Given the description of an element on the screen output the (x, y) to click on. 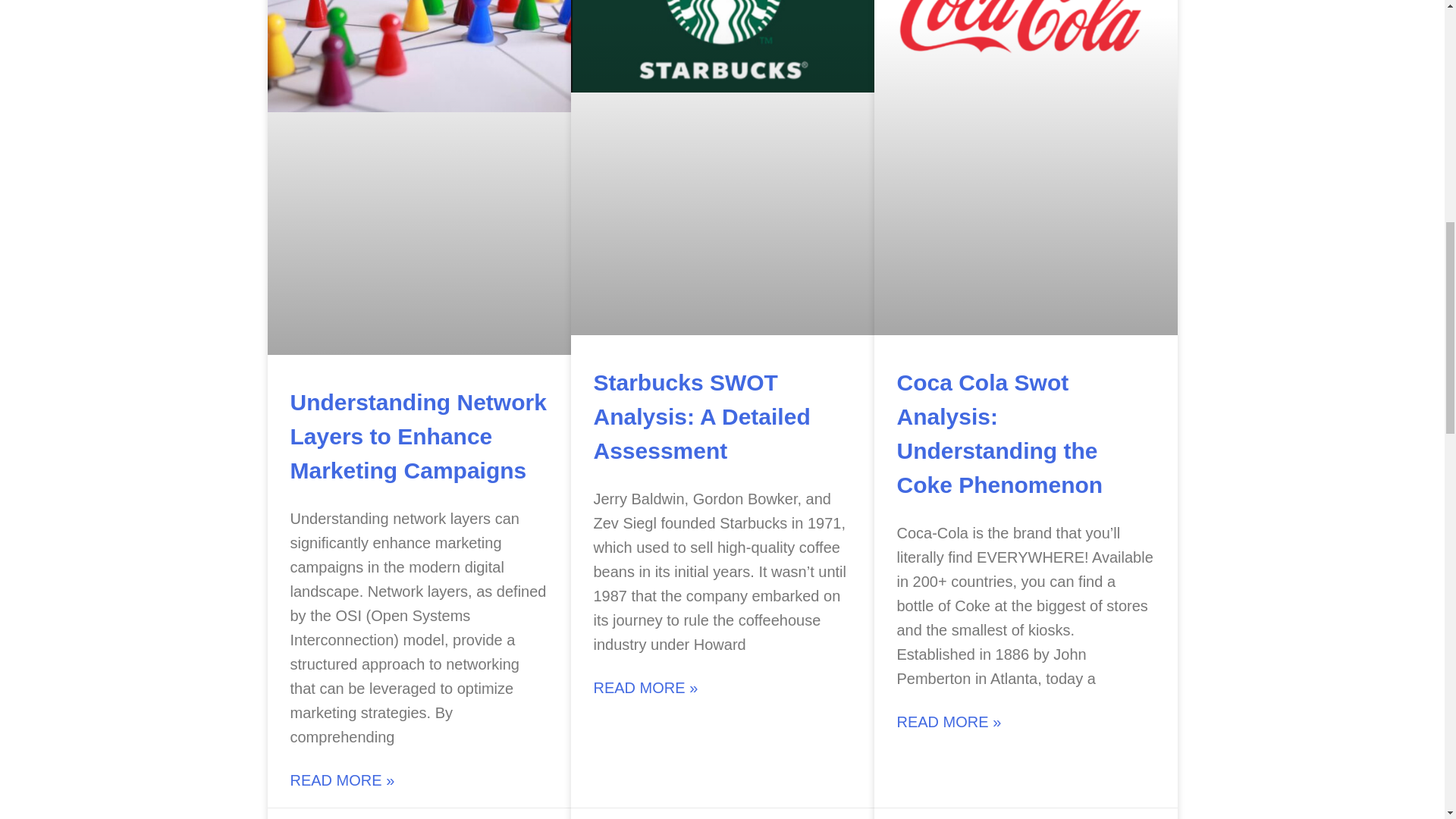
Coca Cola Swot Analysis: Understanding the Coke Phenomenon (999, 433)
Starbucks SWOT Analysis: A Detailed Assessment  (700, 416)
Understanding Network Layers to Enhance Marketing Campaigns (417, 436)
